Given the description of an element on the screen output the (x, y) to click on. 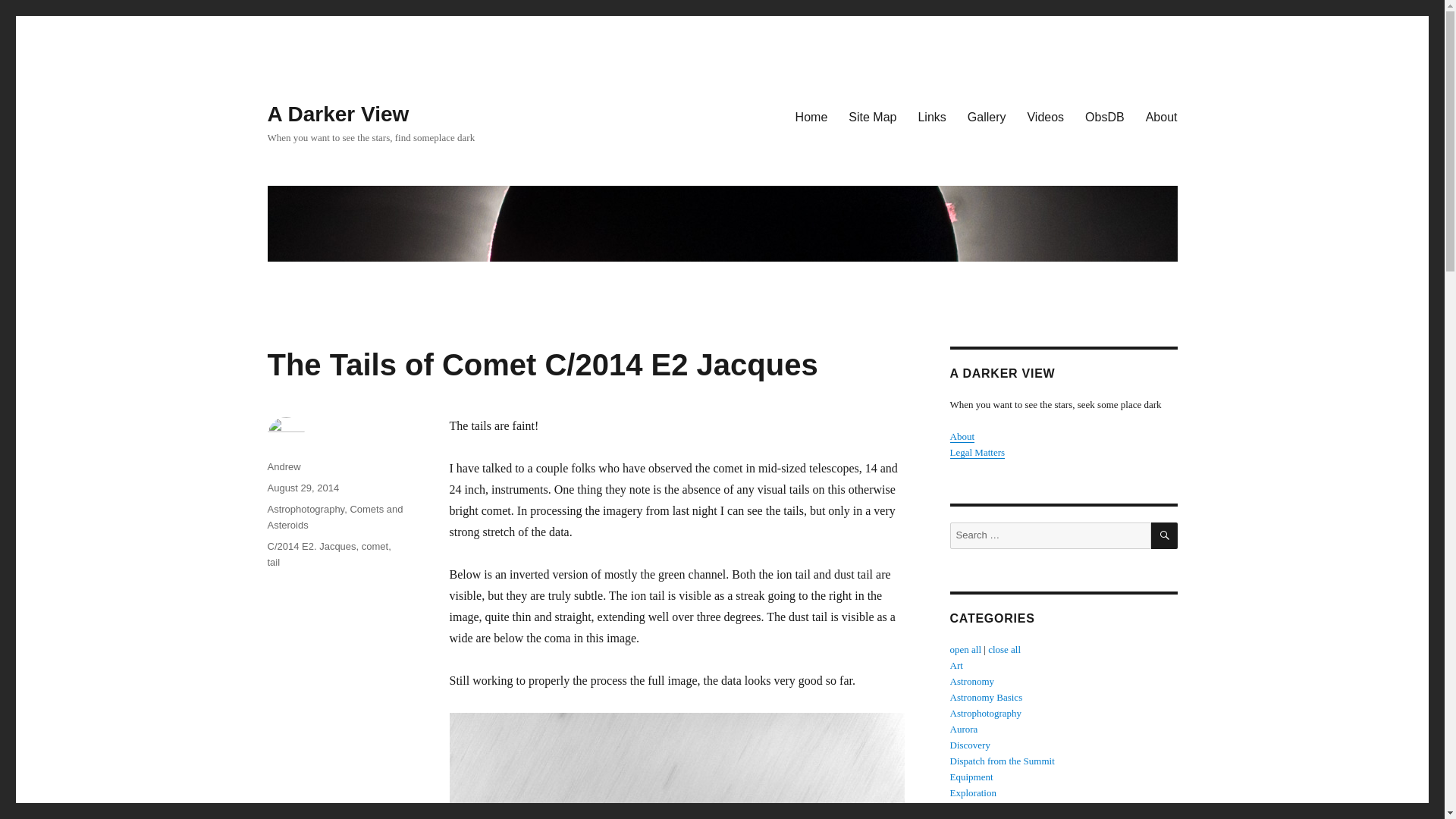
tail (272, 562)
August 29, 2014 (302, 487)
Gallery (986, 116)
SEARCH (1164, 535)
close all (1004, 649)
Exploring the solar system (972, 792)
Comets and Asteroids (334, 516)
Astrophotography (304, 509)
About (961, 436)
open all (965, 649)
Aurora (962, 728)
Exploring the cosmos (971, 681)
Astronomy (971, 681)
A Darker View (337, 114)
open all (965, 649)
